Given the description of an element on the screen output the (x, y) to click on. 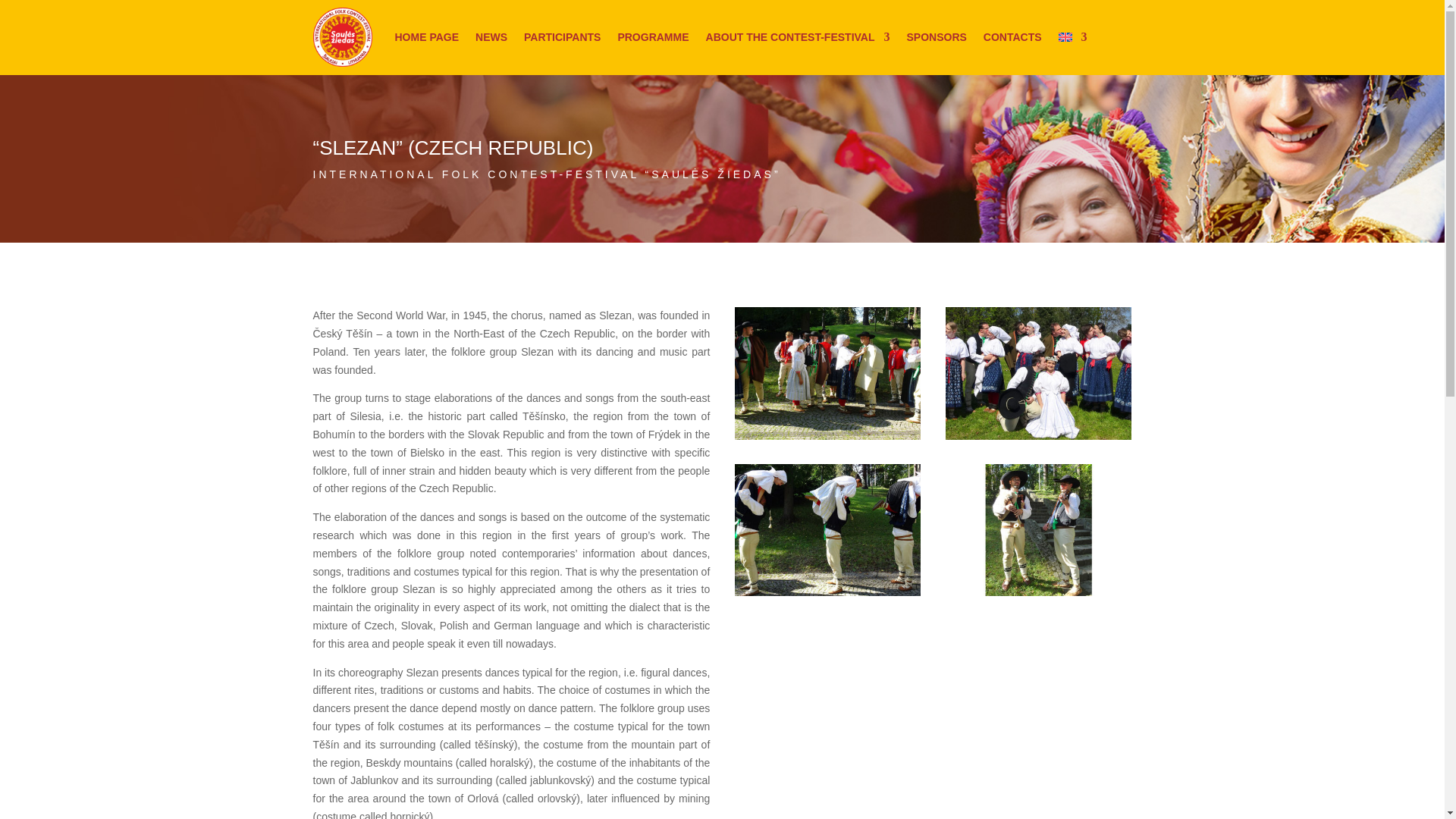
SPONSORS (936, 37)
PROGRAMME (652, 37)
HOME PAGE (426, 37)
02 (1038, 439)
01 (828, 595)
CONTACTS (1013, 37)
03 (1038, 595)
PARTICIPANTS (561, 37)
cekai (828, 439)
ABOUT THE CONTEST-FESTIVAL (797, 37)
